Given the description of an element on the screen output the (x, y) to click on. 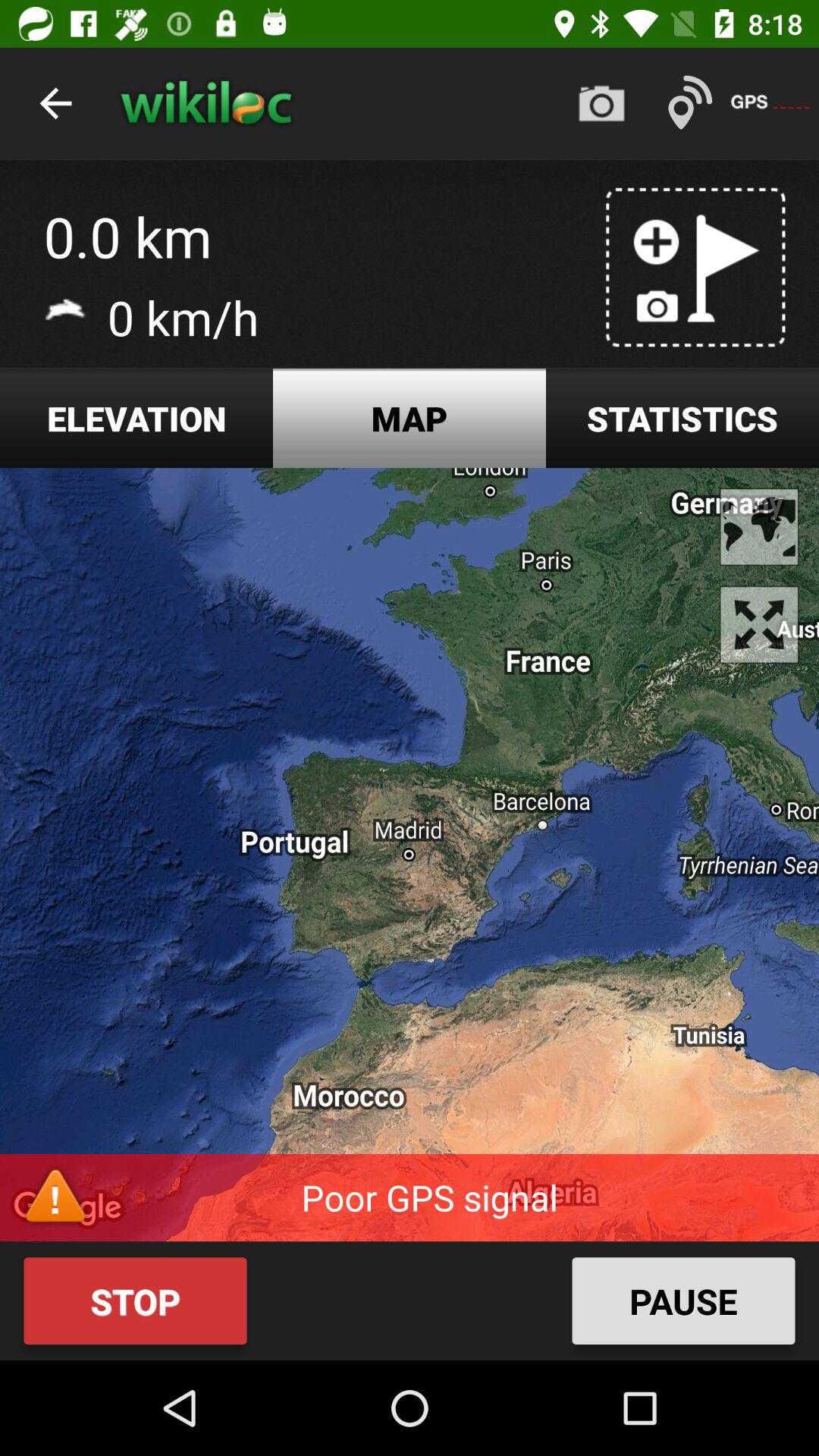
click on map (409, 417)
click on statistics (682, 417)
select the text left to gps (689, 103)
select the image above statistics (696, 268)
click the button stop on the bottom left side of the web page (135, 1300)
click the pause button on the bottom right side of the web page (683, 1300)
